Given the description of an element on the screen output the (x, y) to click on. 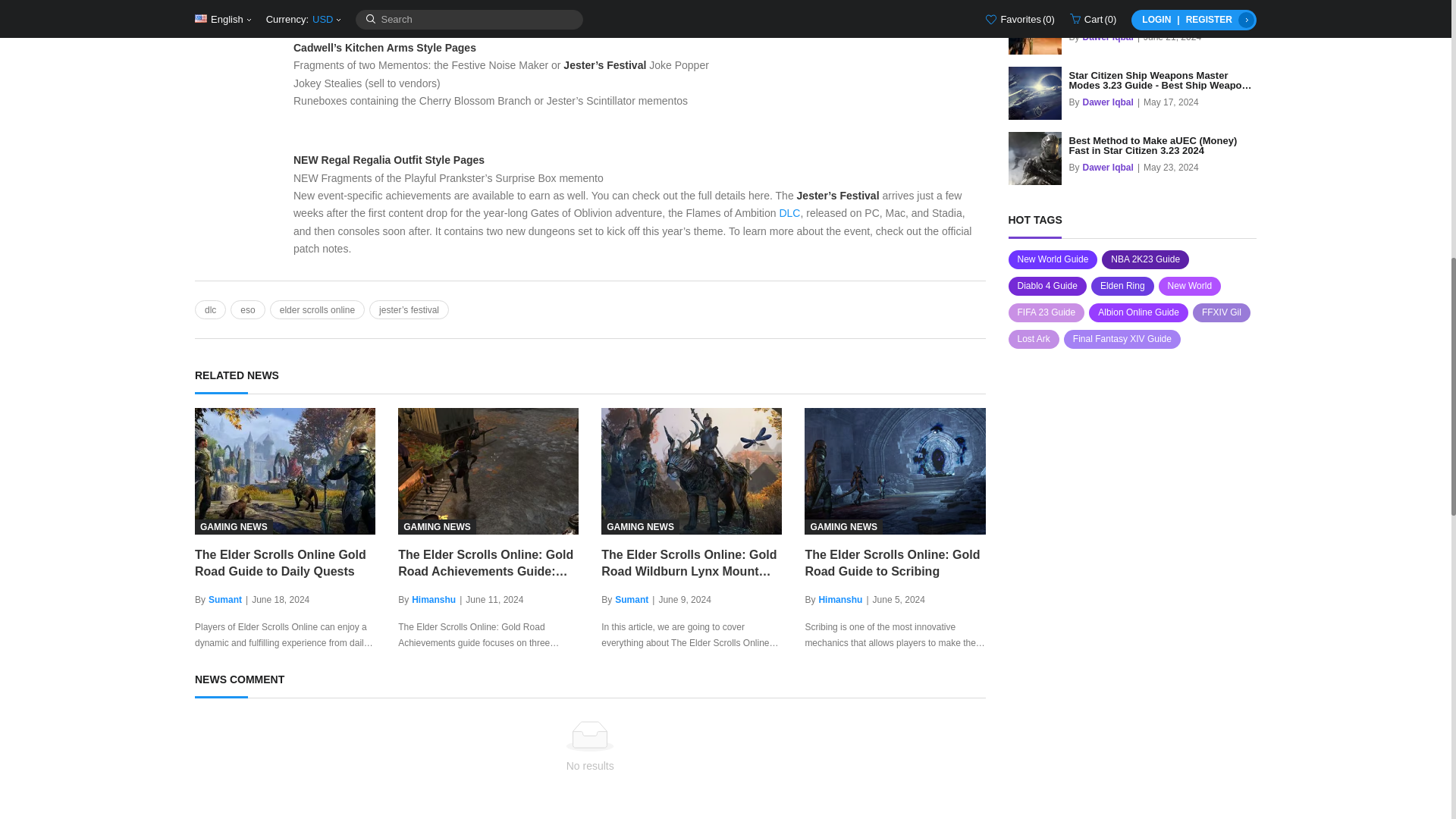
DLC (788, 213)
GAMING NEWS (285, 470)
GAMING NEWS (691, 470)
Himanshu (433, 599)
dlc (210, 309)
The Elder Scrolls Online: Gold Road Guide to Scribing (895, 563)
GAMING NEWS (487, 470)
DLC (788, 213)
Himanshu (839, 599)
Sumant (224, 599)
GAMING NEWS (895, 470)
elder scrolls online (317, 309)
eso (247, 309)
Sumant (630, 599)
